Given the description of an element on the screen output the (x, y) to click on. 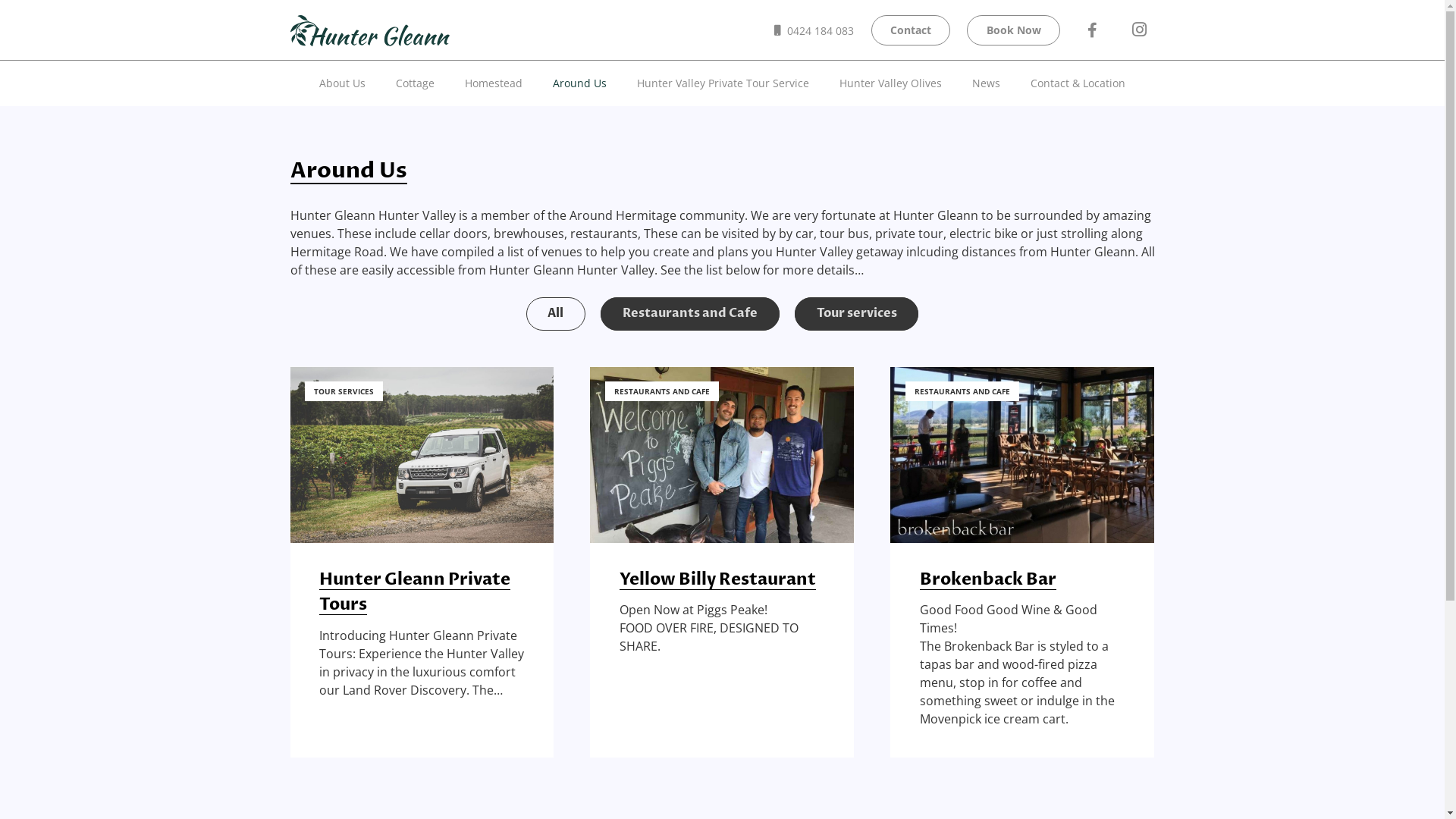
All Element type: text (556, 314)
Brokenback Bar Element type: text (987, 578)
Book Now Element type: text (1012, 29)
0424 184 083 Element type: text (813, 29)
Hunter Valley Private Tour Service Element type: text (722, 83)
Homestead Element type: text (493, 83)
Restaurants and Cafe Element type: text (689, 314)
Instagram Element type: hover (1139, 29)
About Us Element type: text (342, 83)
Cottage Element type: text (414, 83)
News Element type: text (986, 83)
Hunter Gleann Private Tours Element type: text (414, 591)
Yellow Billy Restaurant Element type: text (717, 578)
Contact Element type: text (910, 29)
Facebook Element type: hover (1091, 29)
Contact & Location Element type: text (1077, 83)
Hunter Valley Olives Element type: text (890, 83)
Around Us Element type: text (579, 83)
Tour services Element type: text (856, 314)
